Given the description of an element on the screen output the (x, y) to click on. 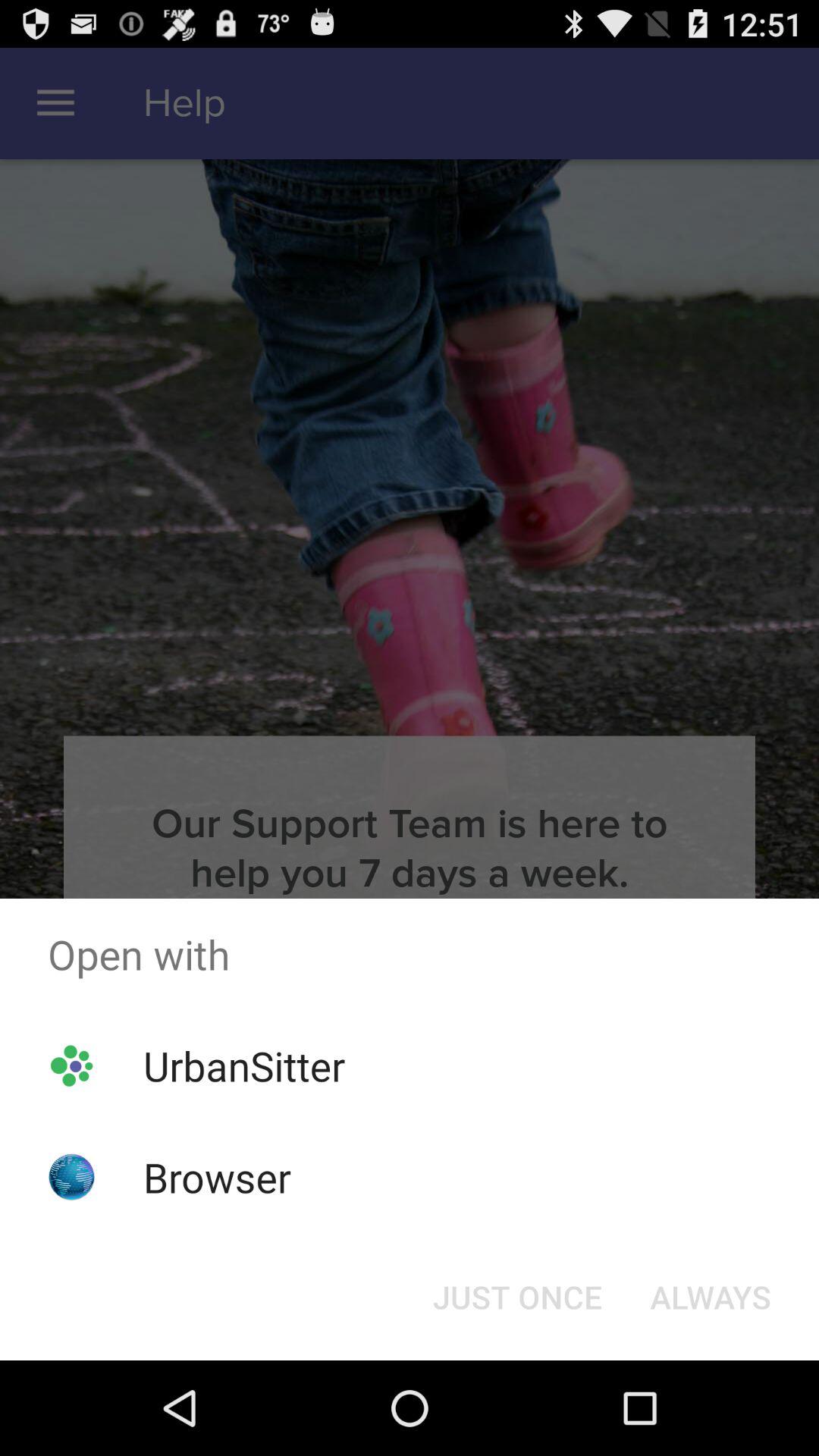
press app below urbansitter icon (217, 1176)
